Given the description of an element on the screen output the (x, y) to click on. 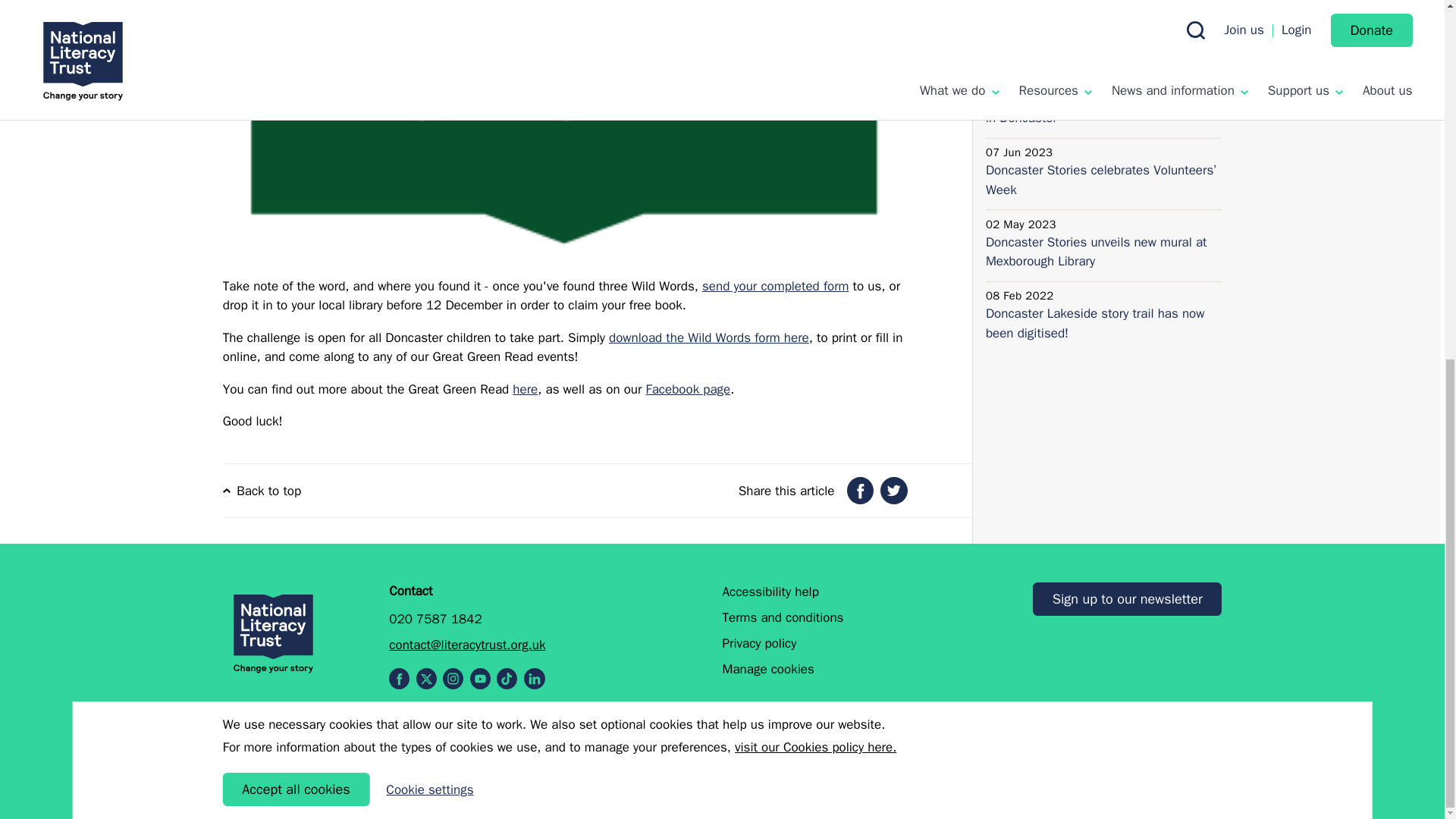
visit our Cookies policy here. (815, 111)
Accept all cookies (295, 152)
Cookie settings (429, 153)
